Given the description of an element on the screen output the (x, y) to click on. 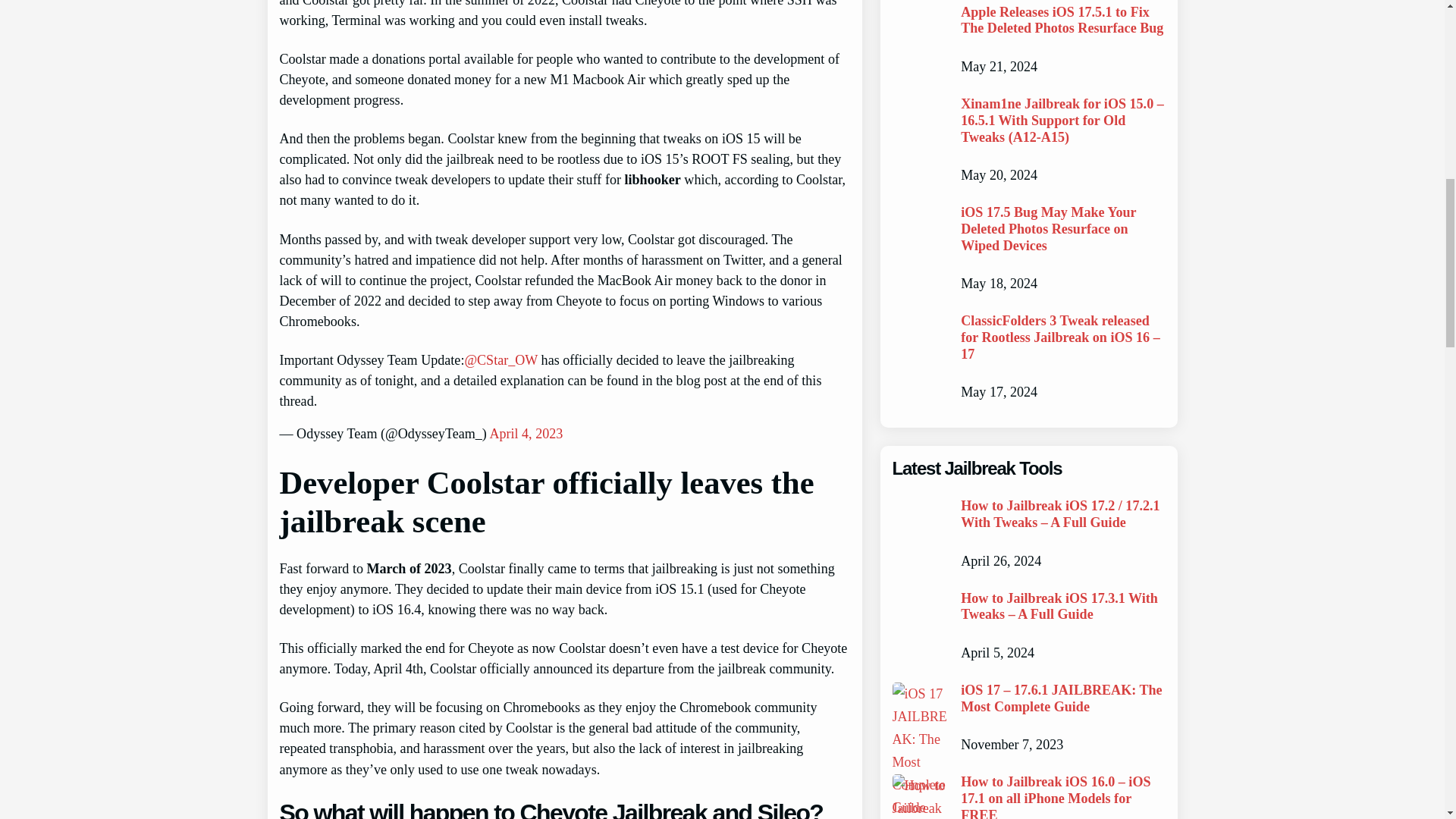
April 4, 2023 (525, 433)
